Given the description of an element on the screen output the (x, y) to click on. 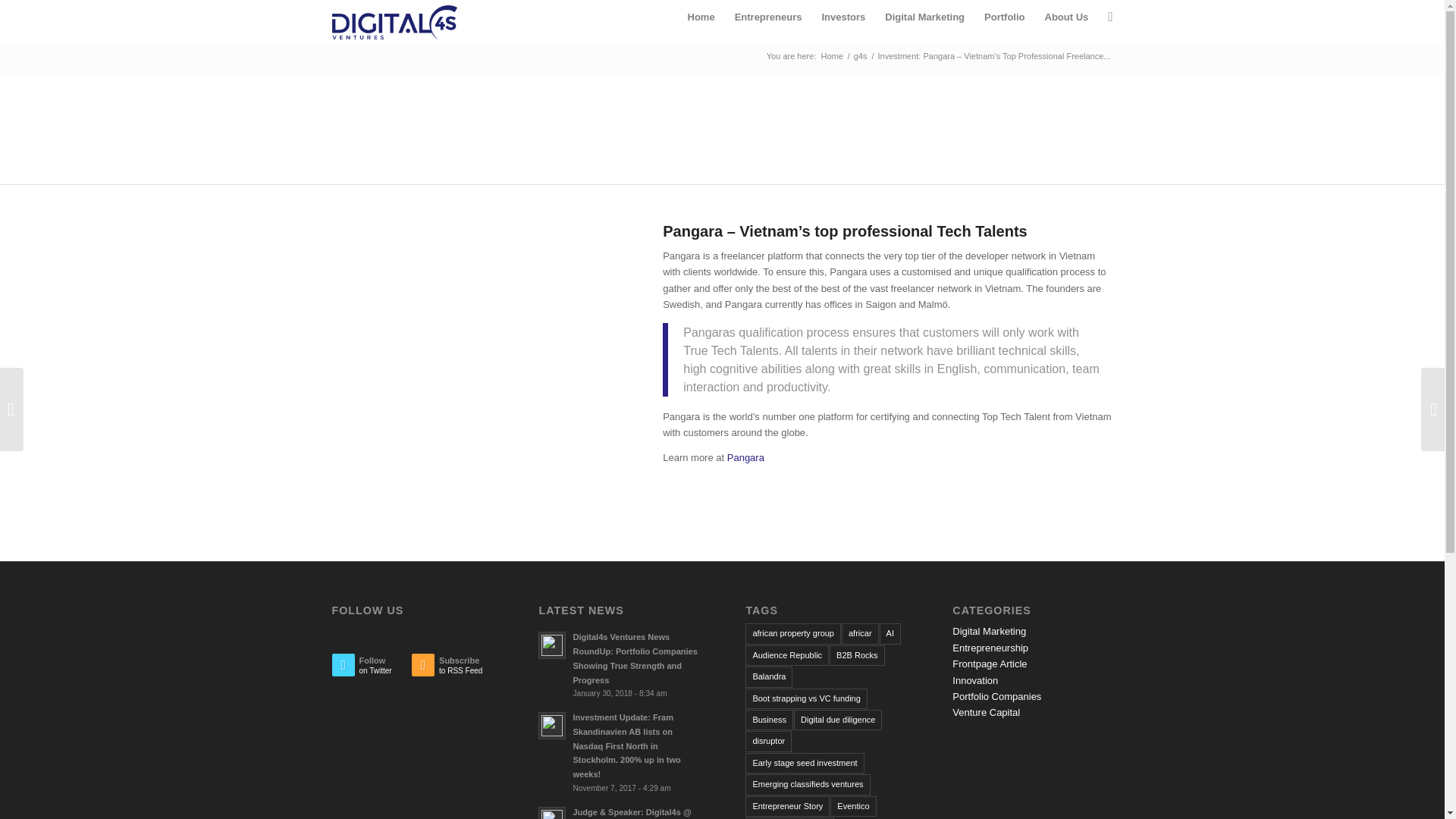
Entrepreneurs (768, 17)
Pangara (745, 457)
About Us (1065, 17)
Digital Marketing (924, 17)
Portfolio (1003, 17)
Investors (842, 17)
Portfolio (1003, 17)
Home (701, 17)
african property group (793, 633)
B2B Rocks (856, 655)
